Given the description of an element on the screen output the (x, y) to click on. 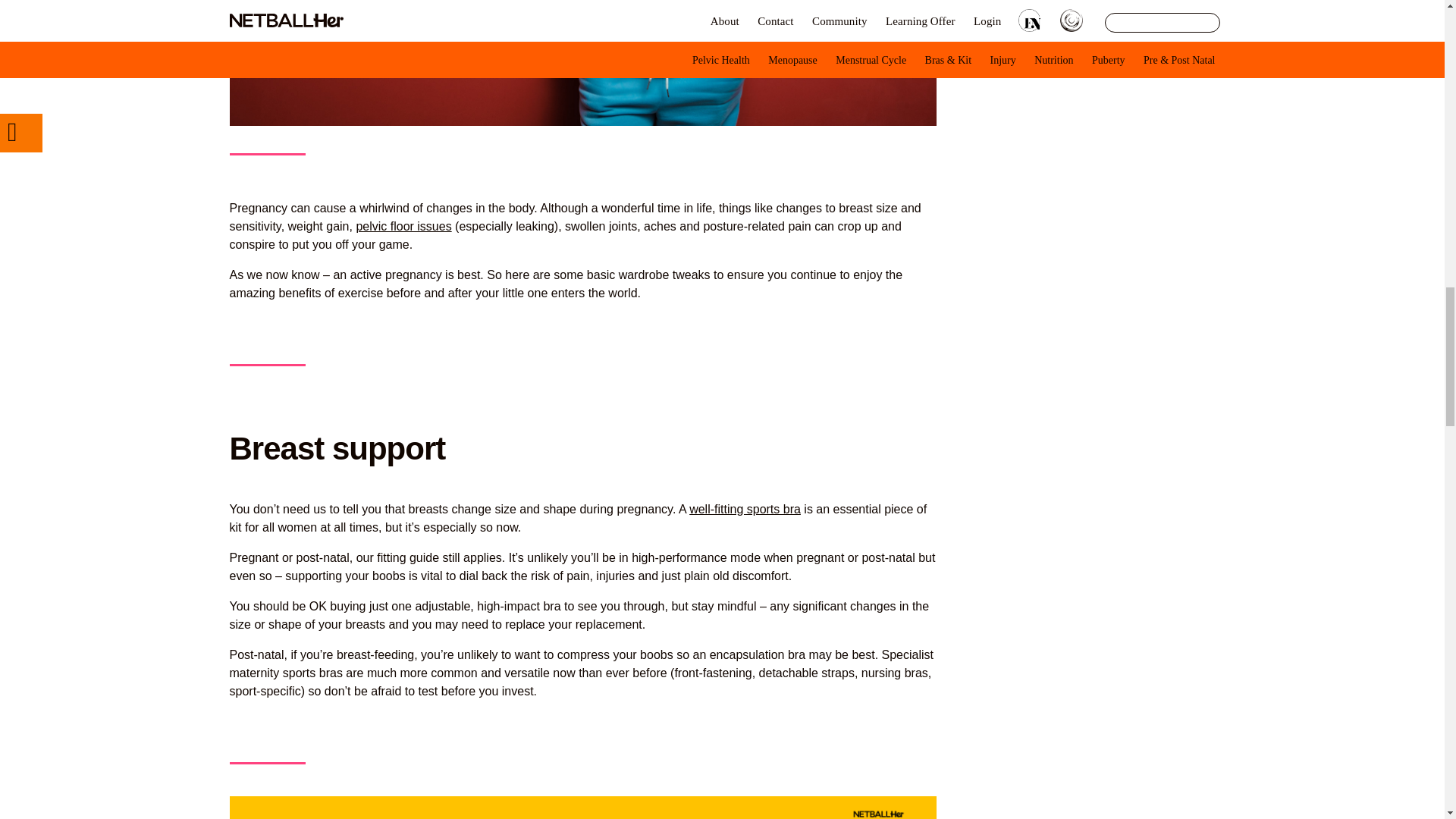
well-fitting sports bra (744, 508)
pelvic floor issues (403, 226)
NetballHer-Infographics-15 (582, 807)
